Given the description of an element on the screen output the (x, y) to click on. 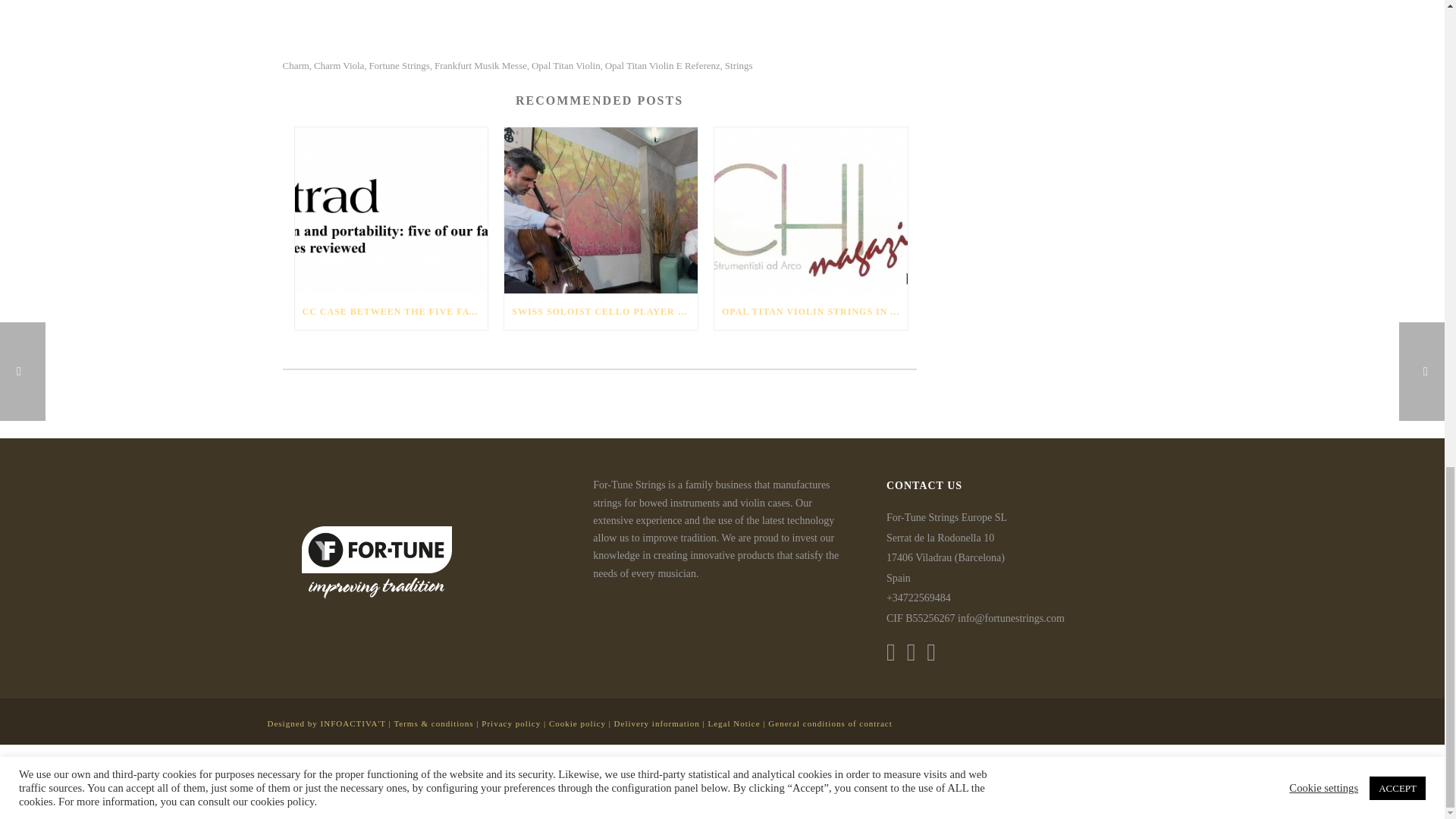
Follow Us on youtube (931, 651)
Follow Us on instagram (911, 651)
Follow Us on facebook (890, 651)
Opal Titan violin strings in ARCHI magazine nov-des 2016 (810, 210)
